Given the description of an element on the screen output the (x, y) to click on. 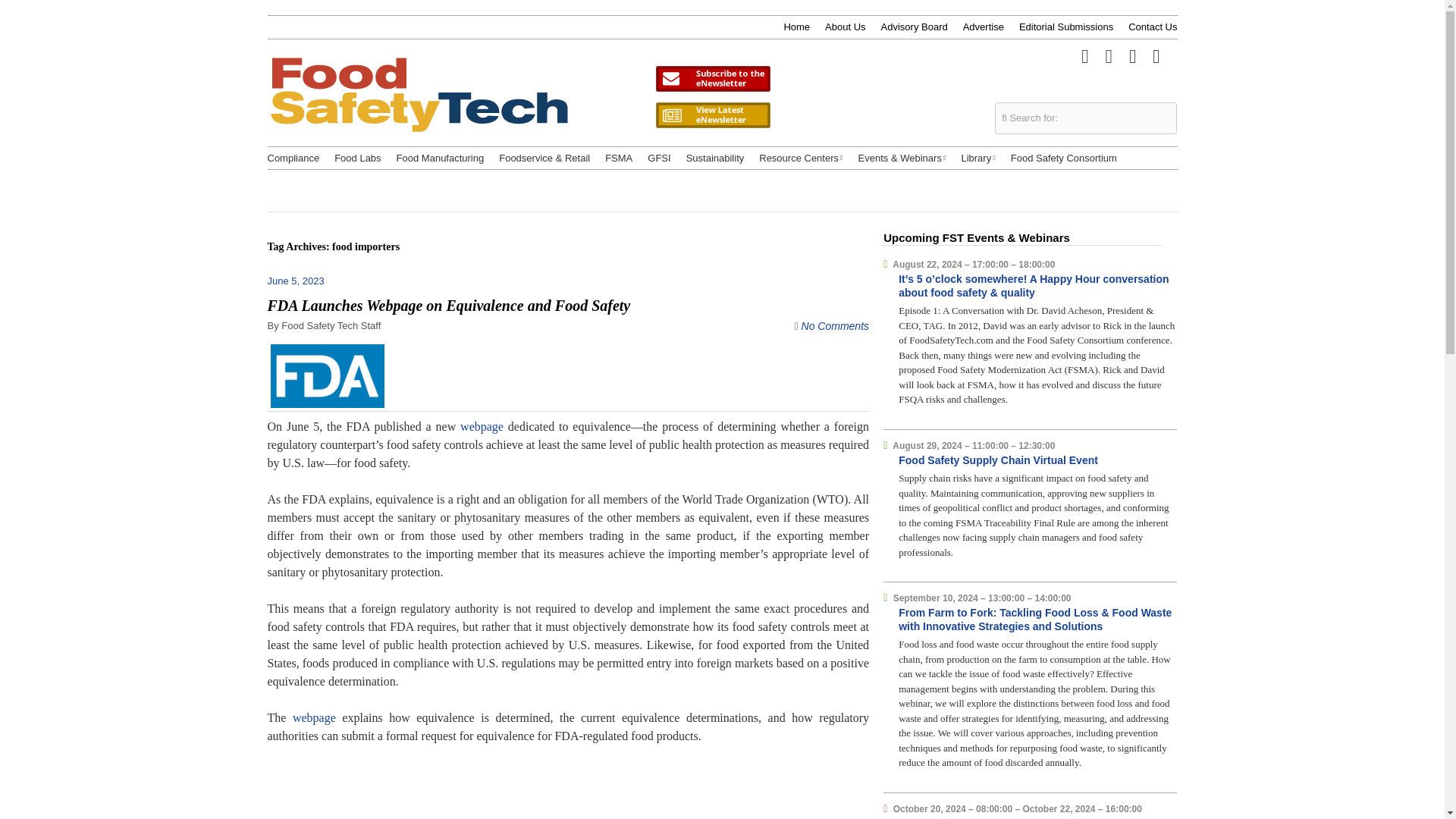
Follow me on Twitter (1084, 55)
Connect with me on LinkedIn (1132, 55)
About Us (844, 27)
FSMA (618, 157)
Home (796, 27)
View The Latest Newsletter (712, 114)
Food Manufacturing (440, 157)
Follow me on Twitter (1084, 55)
Contact Us (1152, 27)
Compliance (292, 157)
